Given the description of an element on the screen output the (x, y) to click on. 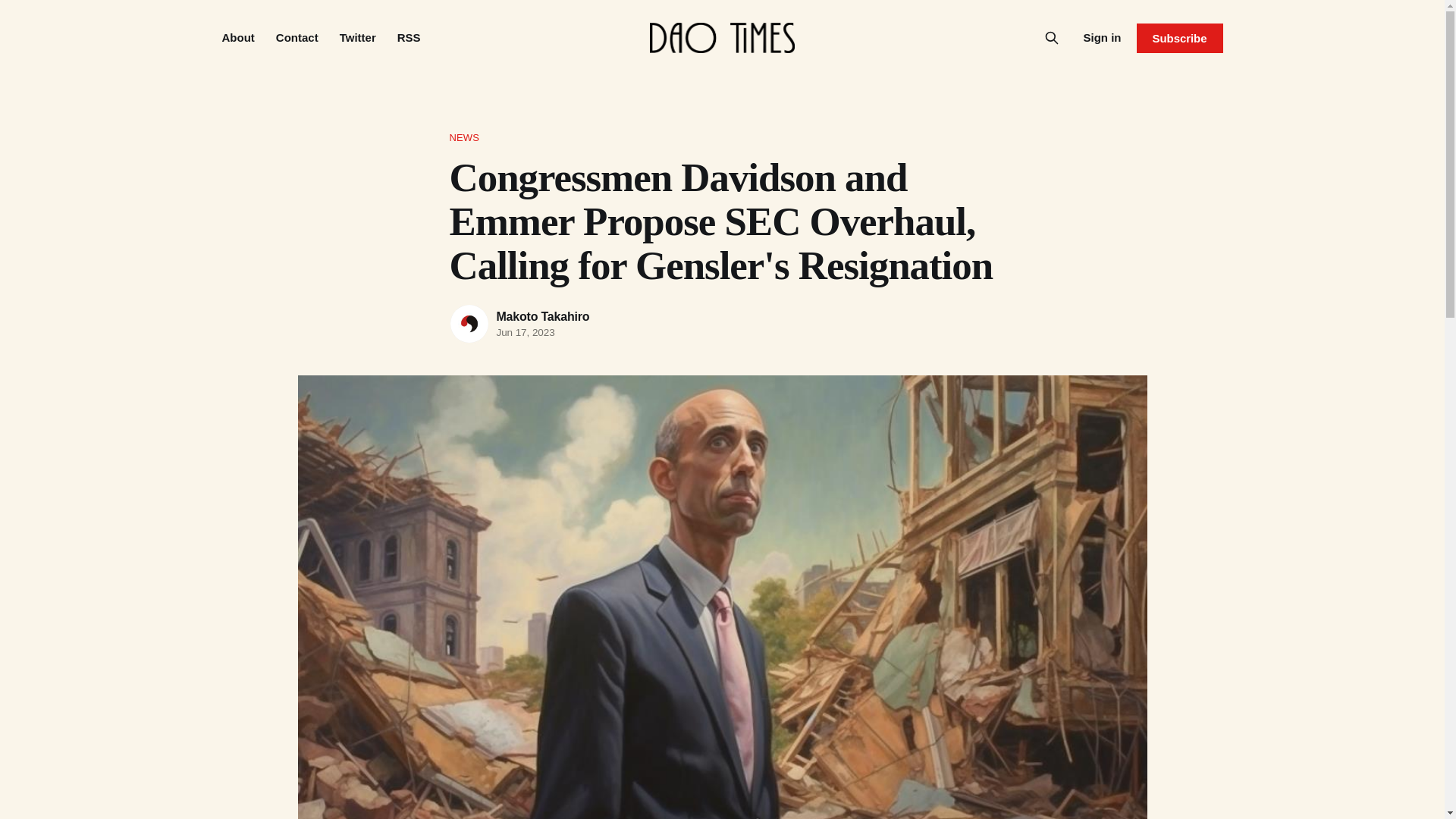
RSS (408, 37)
About (237, 37)
Makoto Takahiro (542, 316)
Twitter (357, 37)
Sign in (1102, 37)
Subscribe (1179, 37)
NEWS (721, 138)
Contact (297, 37)
